Given the description of an element on the screen output the (x, y) to click on. 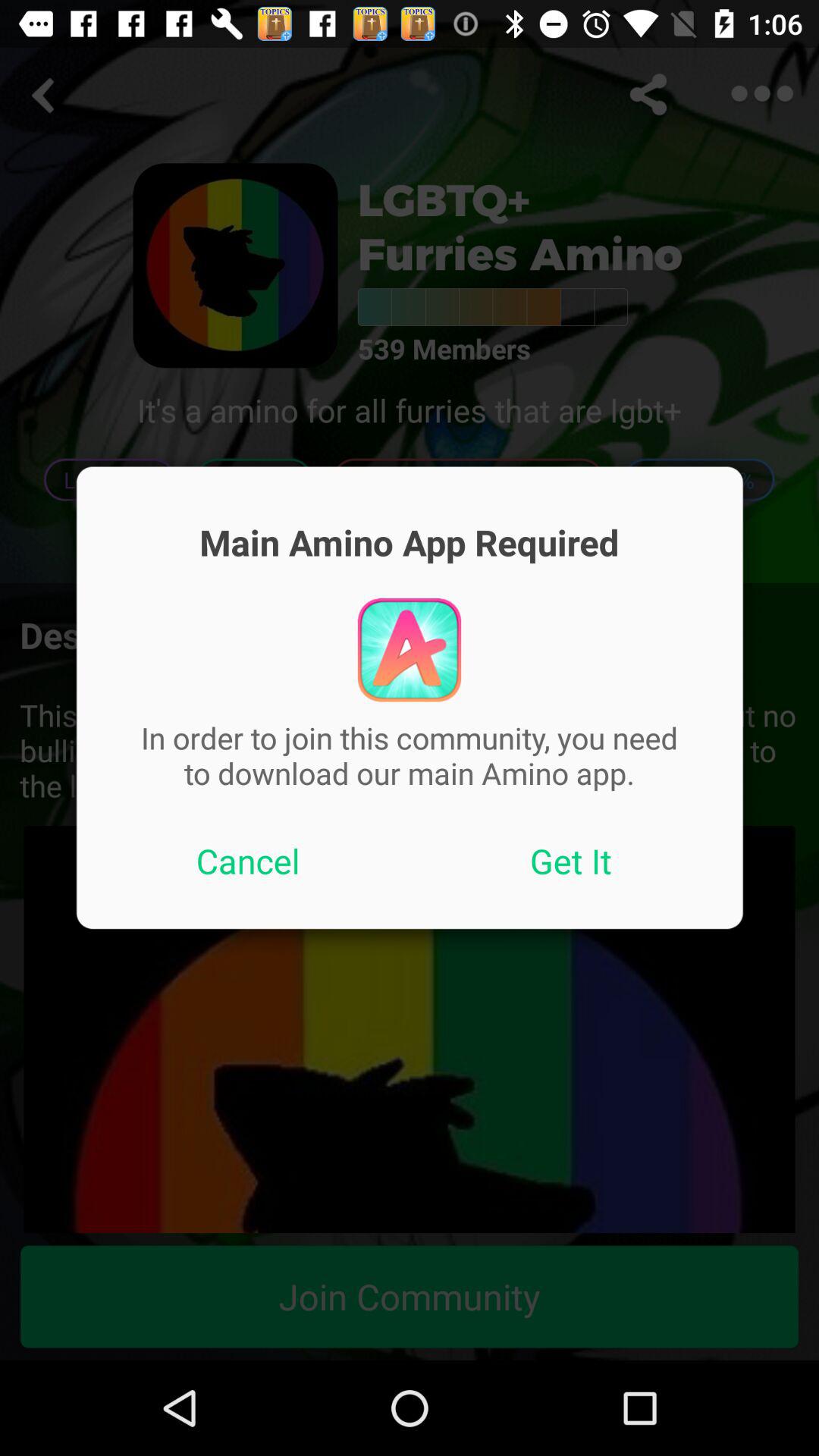
scroll to the get it (570, 860)
